Given the description of an element on the screen output the (x, y) to click on. 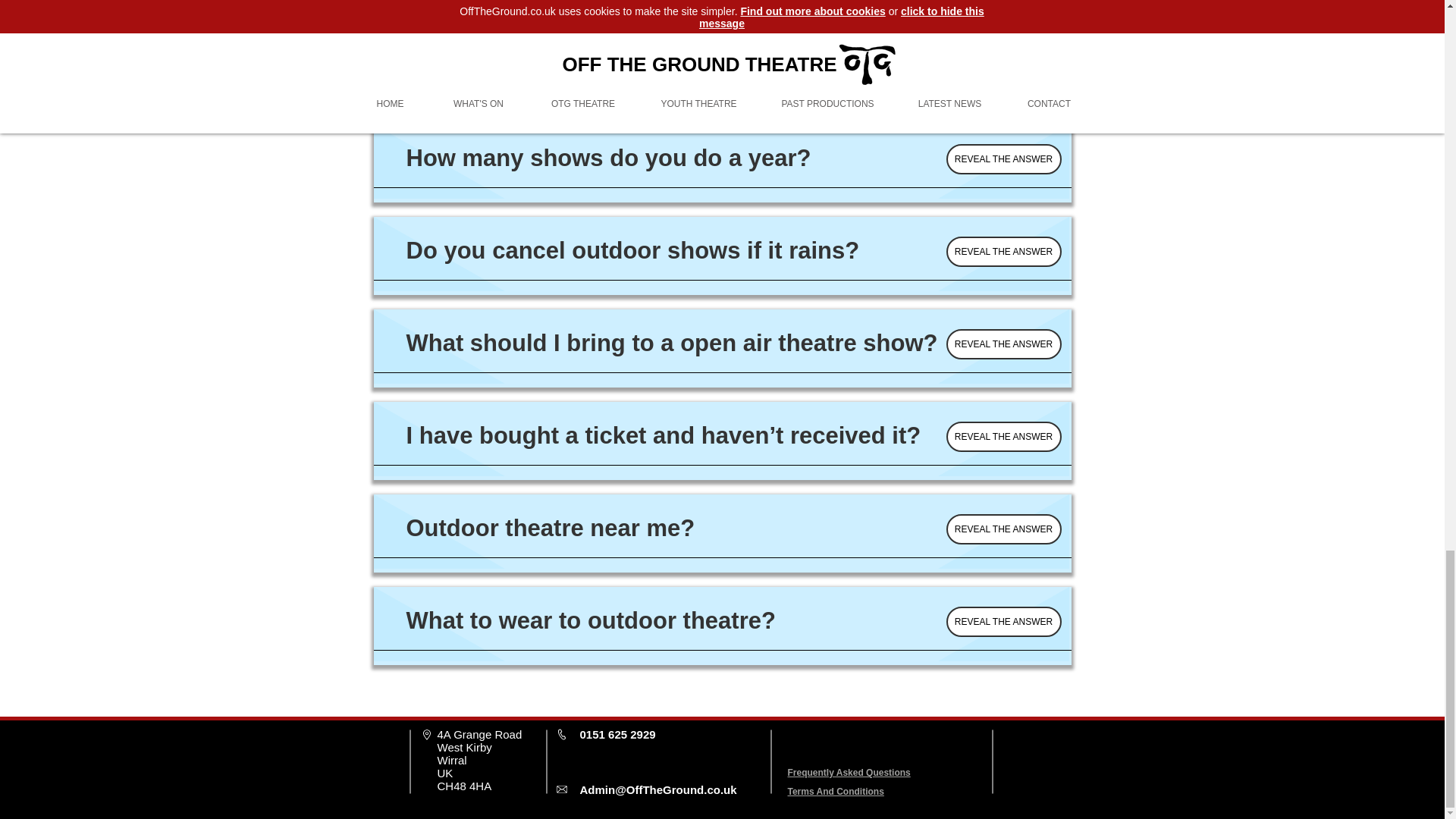
REVEAL THE ANSWER (1003, 251)
REVEAL THE ANSWER (1003, 621)
REVEAL THE ANSWER (1003, 66)
REVEAL THE ANSWER (1003, 436)
REVEAL THE ANSWER (1003, 344)
REVEAL THE ANSWER (1003, 159)
REVEAL THE ANSWER (1003, 529)
